Given the description of an element on the screen output the (x, y) to click on. 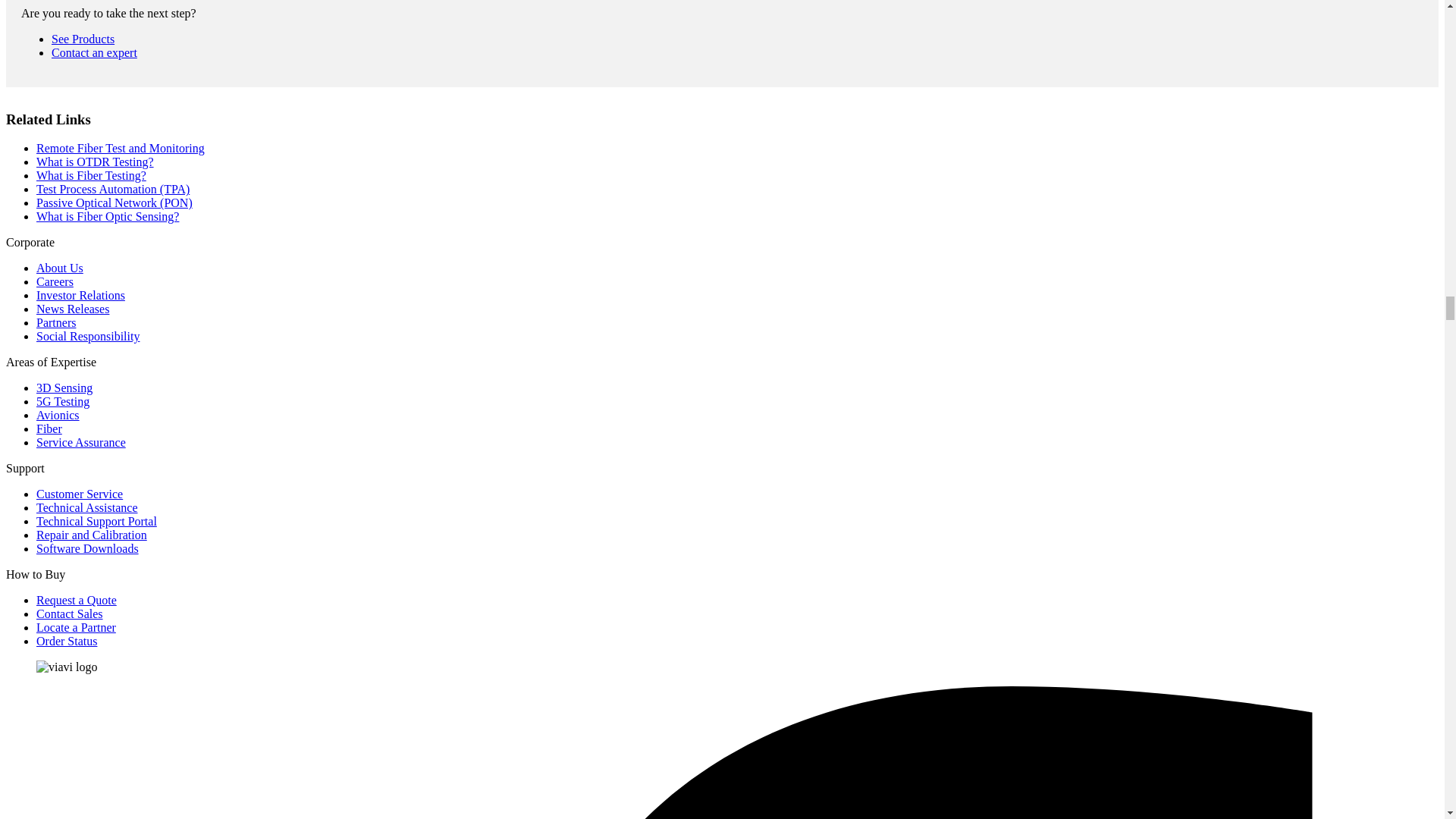
Request a Quote (93, 51)
Remote Fiber Test and Monitoring (82, 38)
